Given the description of an element on the screen output the (x, y) to click on. 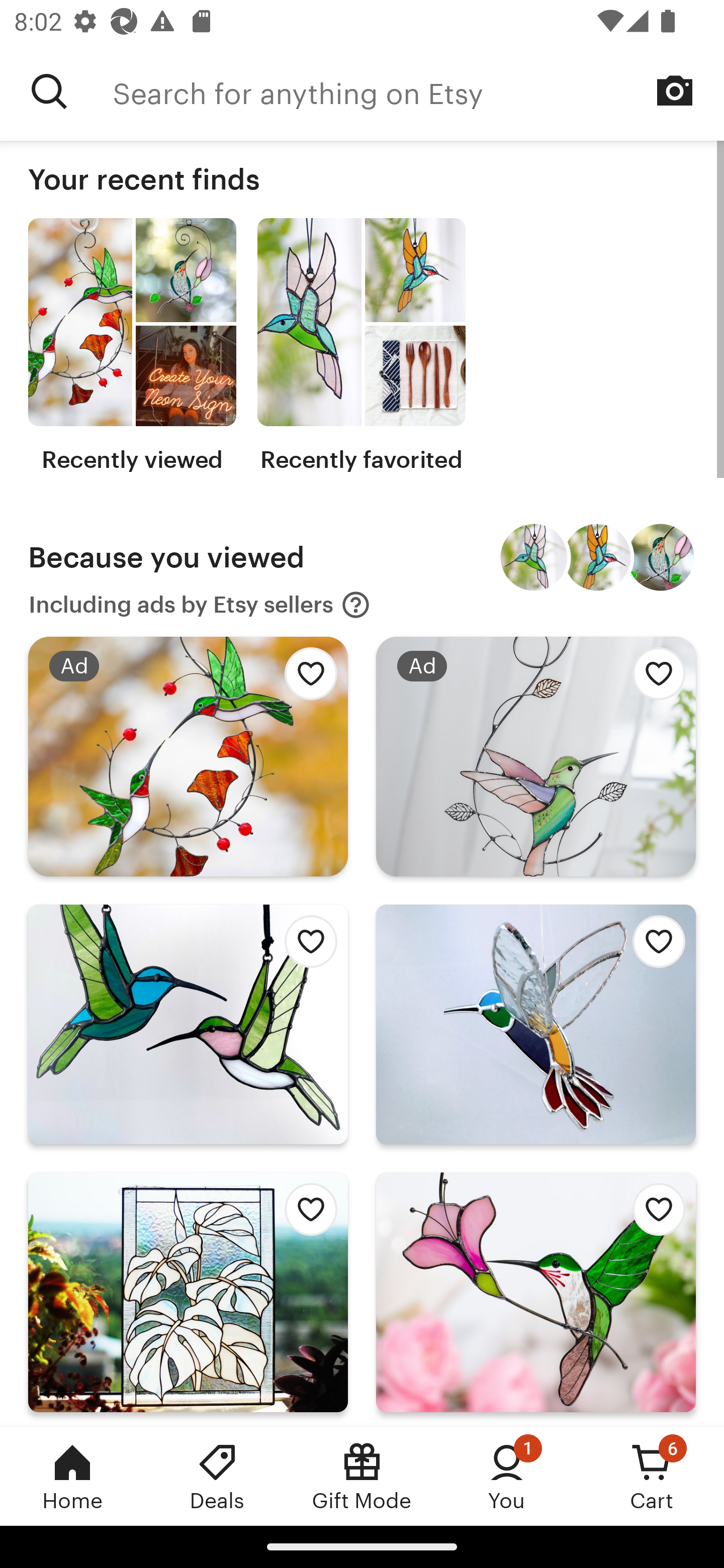
Search for anything on Etsy (49, 91)
Search by image (674, 90)
Search for anything on Etsy (418, 91)
Recently viewed (132, 345)
Recently favorited (361, 345)
Including ads by Etsy sellers (199, 604)
Deals (216, 1475)
Gift Mode (361, 1475)
You, 1 new notification You (506, 1475)
Cart, 6 new notifications Cart (651, 1475)
